Given the description of an element on the screen output the (x, y) to click on. 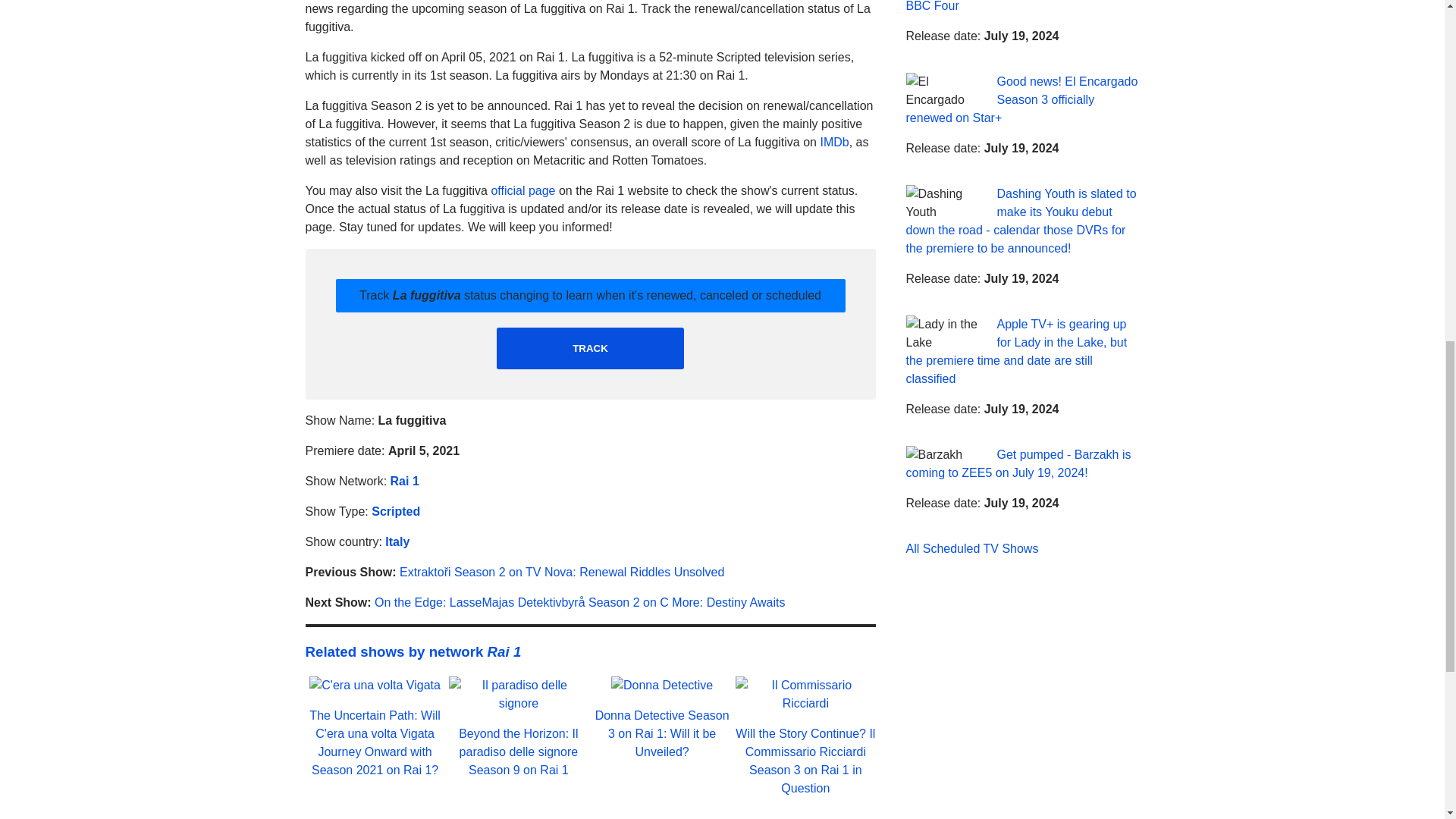
Get pumped - Barzakh is coming to ZEE5 on July 19, 2024! (1018, 463)
Rai 1 (404, 481)
IMDb (833, 141)
Italy (397, 541)
Donna Detective Season 3 on Rai 1: Will it be Unveiled? (662, 733)
Scripted (395, 511)
official page (522, 190)
TRACK (590, 348)
